Given the description of an element on the screen output the (x, y) to click on. 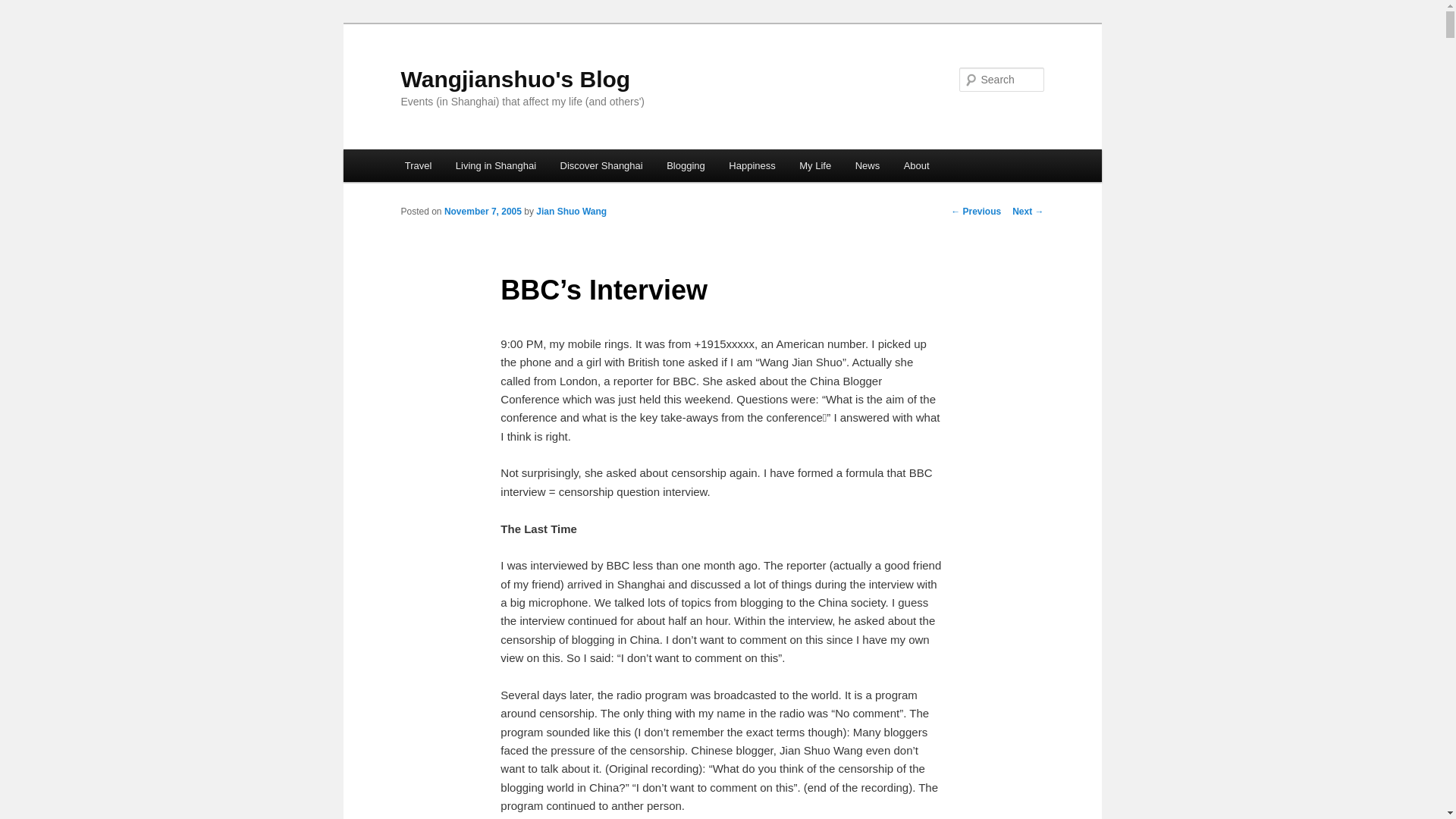
Living in Shanghai (496, 165)
Wangjianshuo's Blog (515, 78)
Search (24, 8)
Travel (418, 165)
10:05 pm (482, 211)
View all posts by Jian Shuo Wang (571, 211)
